Given the description of an element on the screen output the (x, y) to click on. 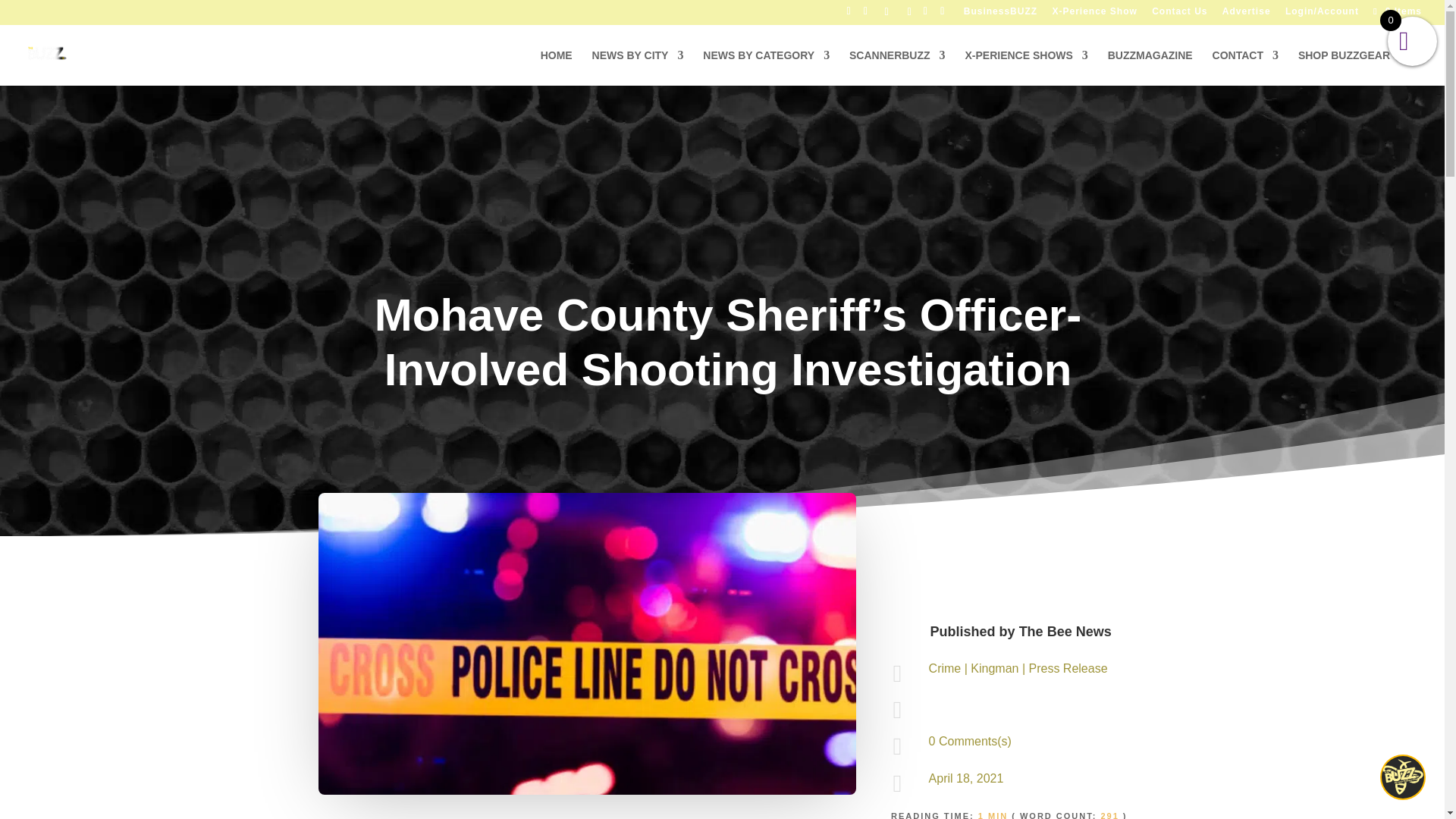
SCANNERBUZZ (896, 67)
NEWS BY CITY (638, 67)
Contact Us (1179, 14)
BusinessBUZZ (999, 14)
Advertise (1247, 14)
0 Items (1396, 10)
X-Perience Show (1094, 14)
NEWS BY CATEGORY (766, 67)
HOME (556, 67)
